Given the description of an element on the screen output the (x, y) to click on. 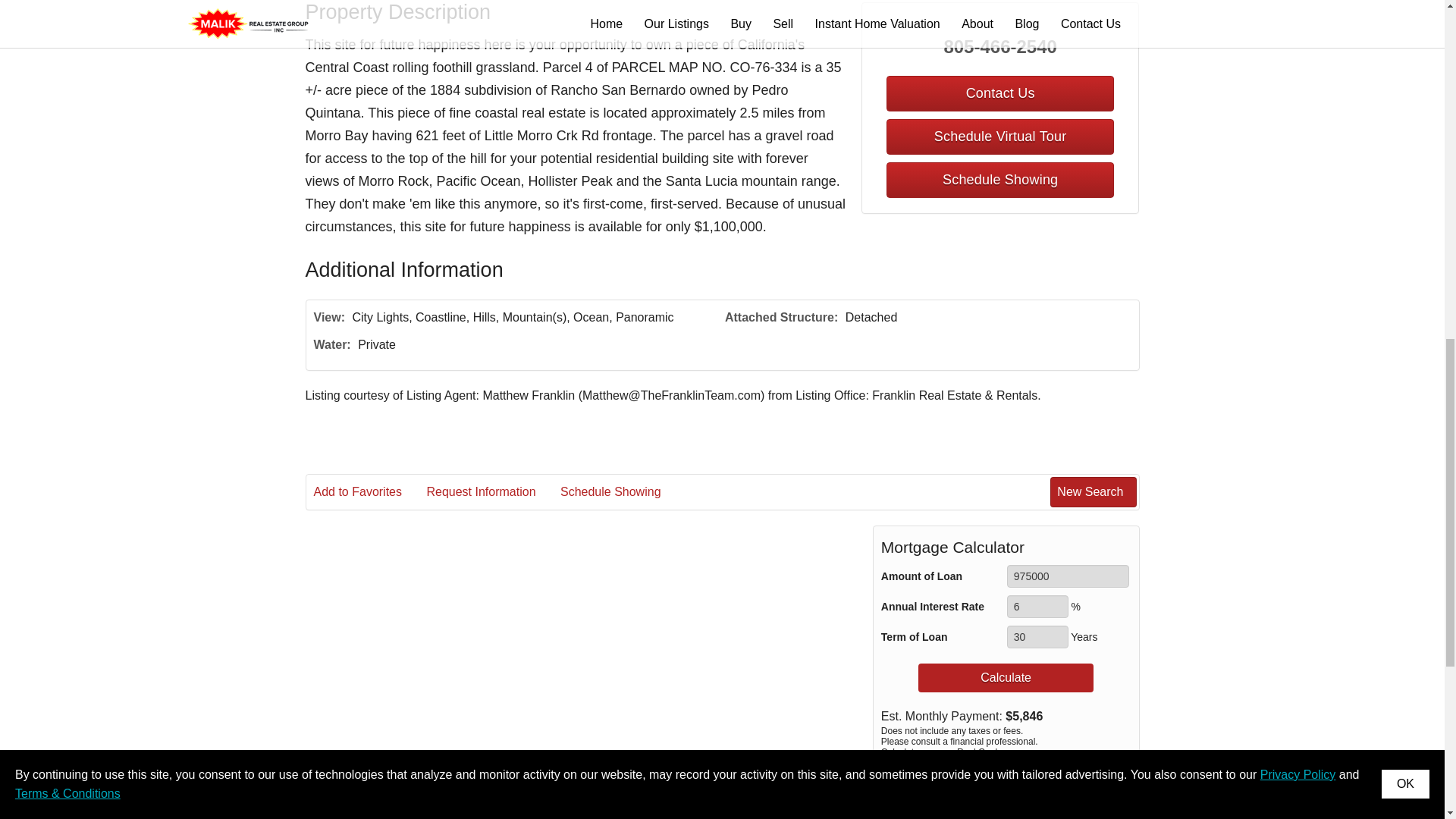
6 (1037, 606)
975000 (1068, 576)
30 (1037, 636)
